Given the description of an element on the screen output the (x, y) to click on. 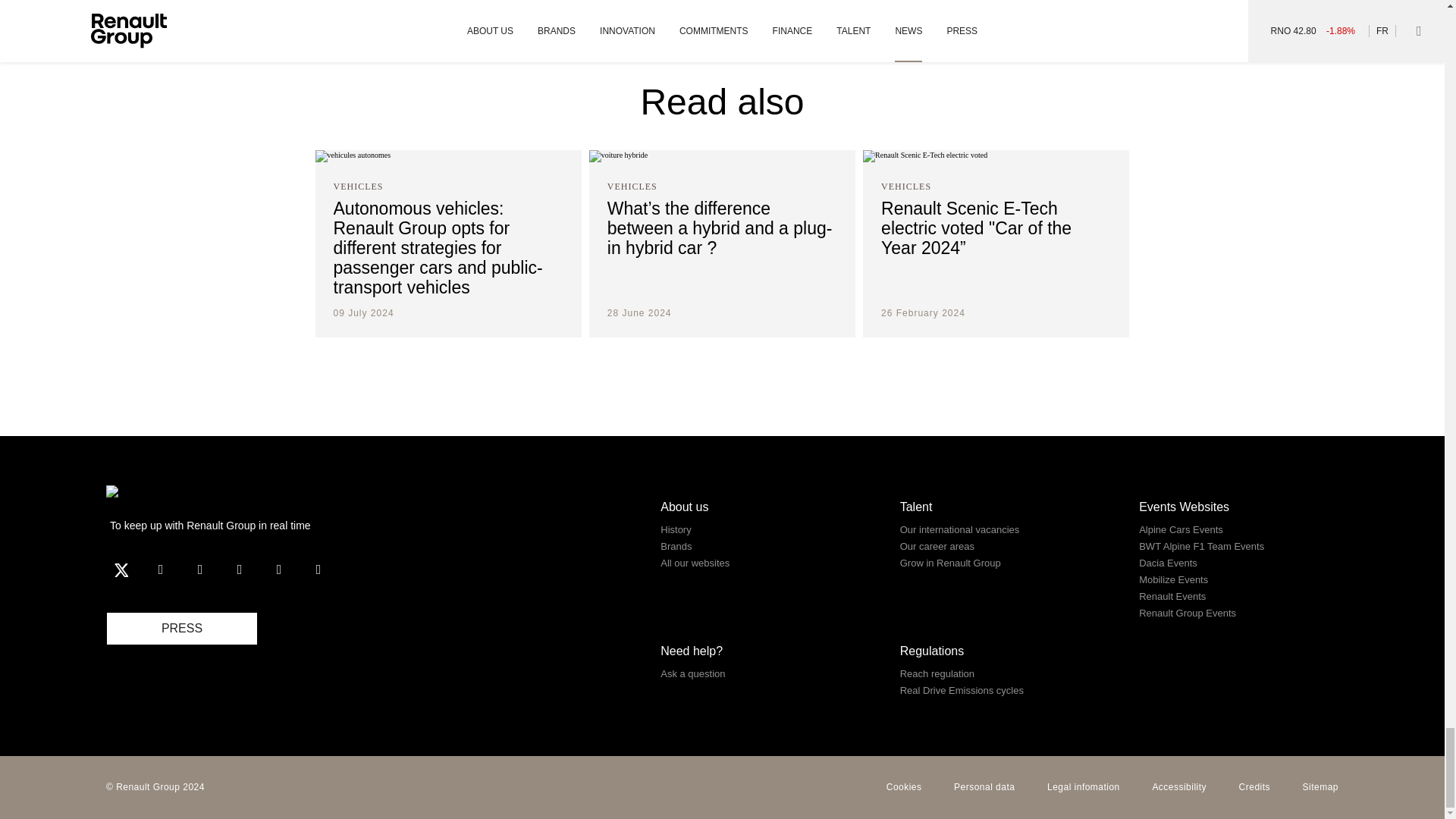
Live (317, 569)
LinkedIn (278, 569)
Twitter (121, 569)
Facebook (160, 569)
Instagram (239, 569)
YouTube (199, 569)
